Given the description of an element on the screen output the (x, y) to click on. 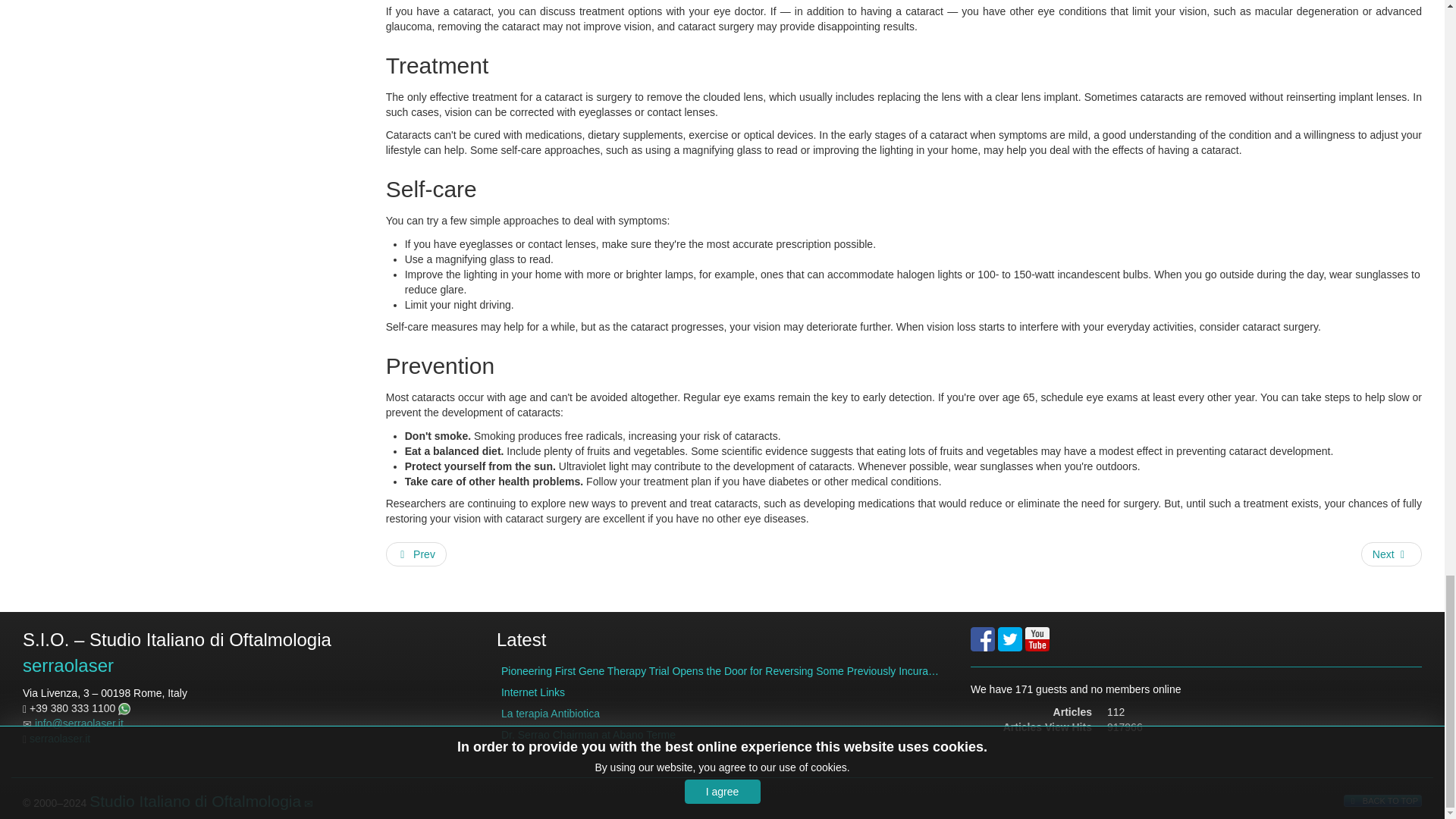
Il Canale di serraolaser su YouTube (1037, 639)
serraolaser su Twitter (1009, 637)
serraolaser su Twitter (1009, 639)
Pagina di serraolaser su Facebook (982, 637)
Il Canale di serraolaser su YouTube (1037, 637)
Pagina di serraolaser su Facebook (982, 639)
